Given the description of an element on the screen output the (x, y) to click on. 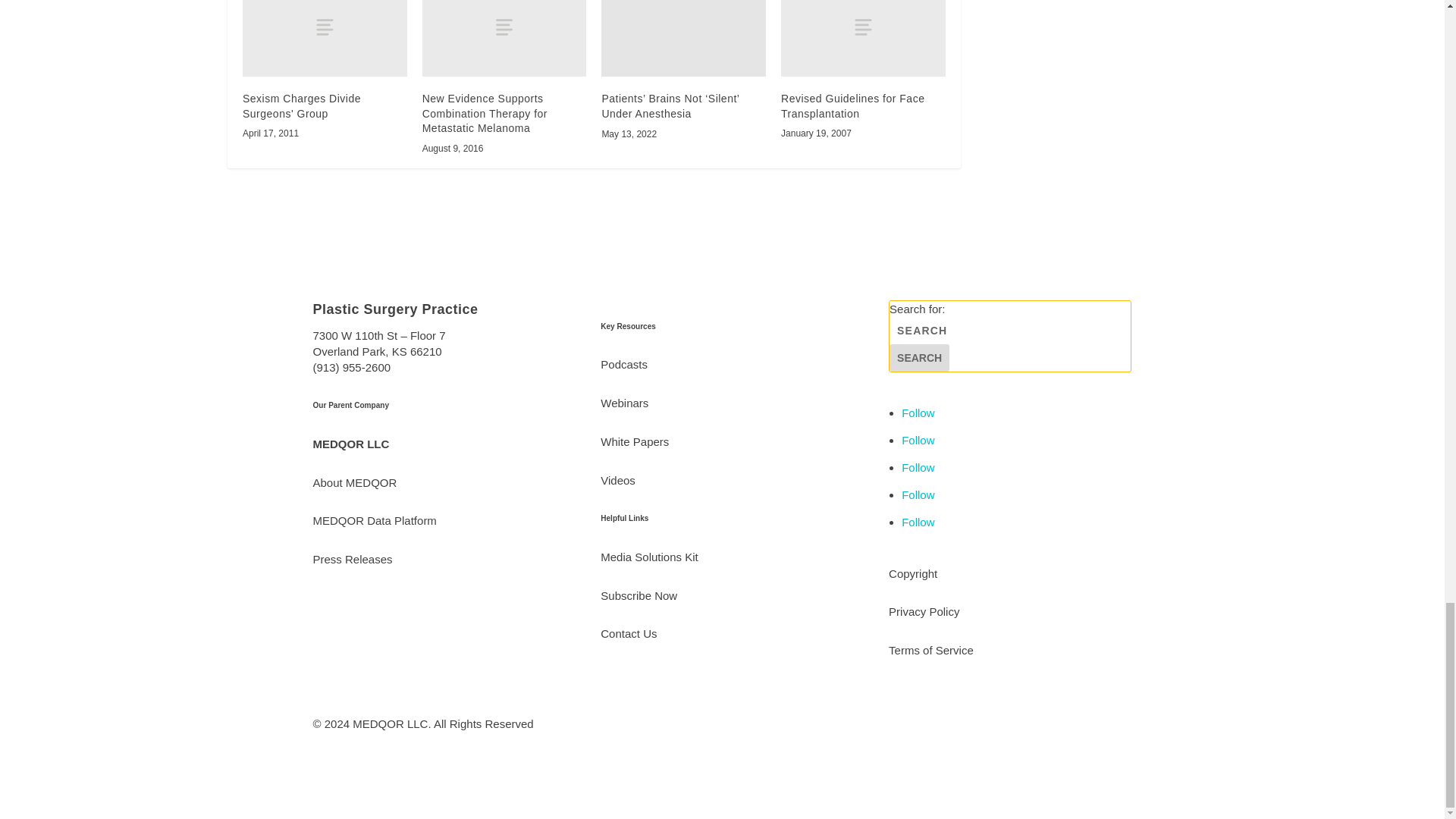
Sexism Charges Divide Surgeons' Group (302, 105)
Sexism Charges Divide Surgeons' Group (325, 38)
Search (919, 357)
Search (919, 357)
Revised Guidelines for Face Transplantation (862, 38)
